Given the description of an element on the screen output the (x, y) to click on. 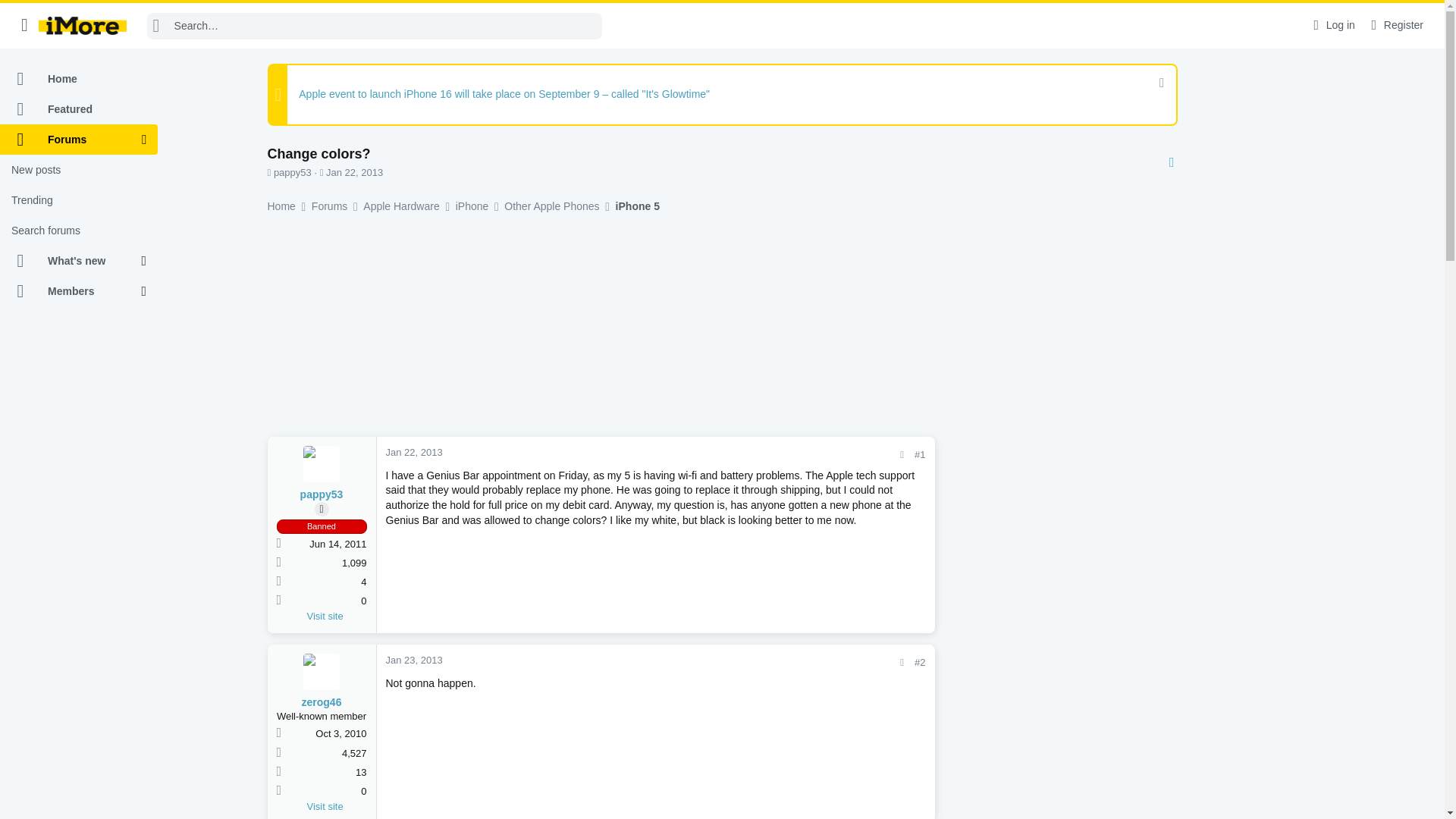
Search forums (78, 230)
Featured (78, 109)
Log in (1332, 24)
Visit site (335, 616)
Register (1395, 24)
Jan 22, 2013 at 11:38 PM (354, 172)
Forums (70, 139)
Home (78, 78)
Trending (78, 200)
Original poster (321, 509)
